Given the description of an element on the screen output the (x, y) to click on. 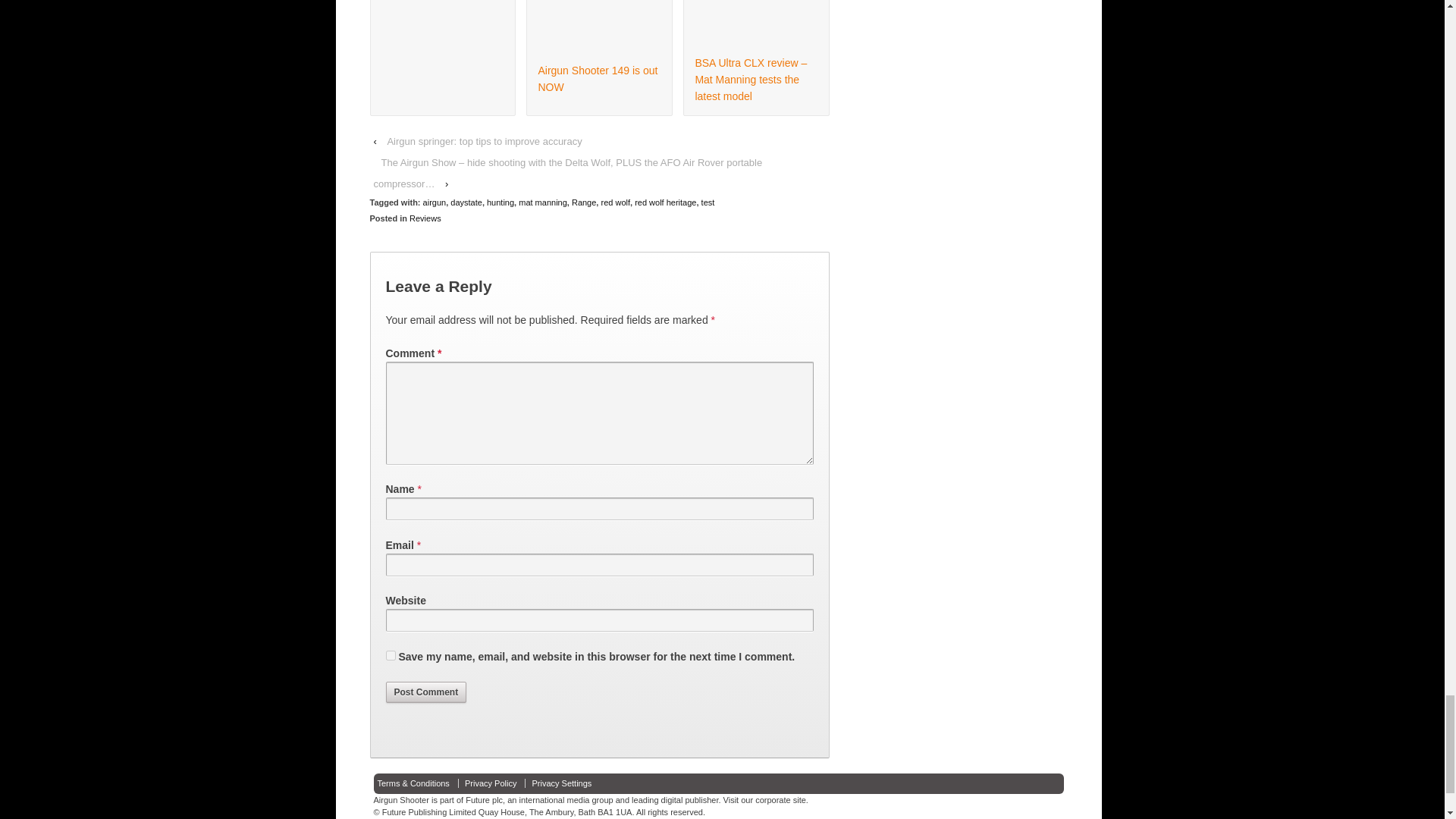
yes (389, 655)
Post Comment (425, 691)
